Given the description of an element on the screen output the (x, y) to click on. 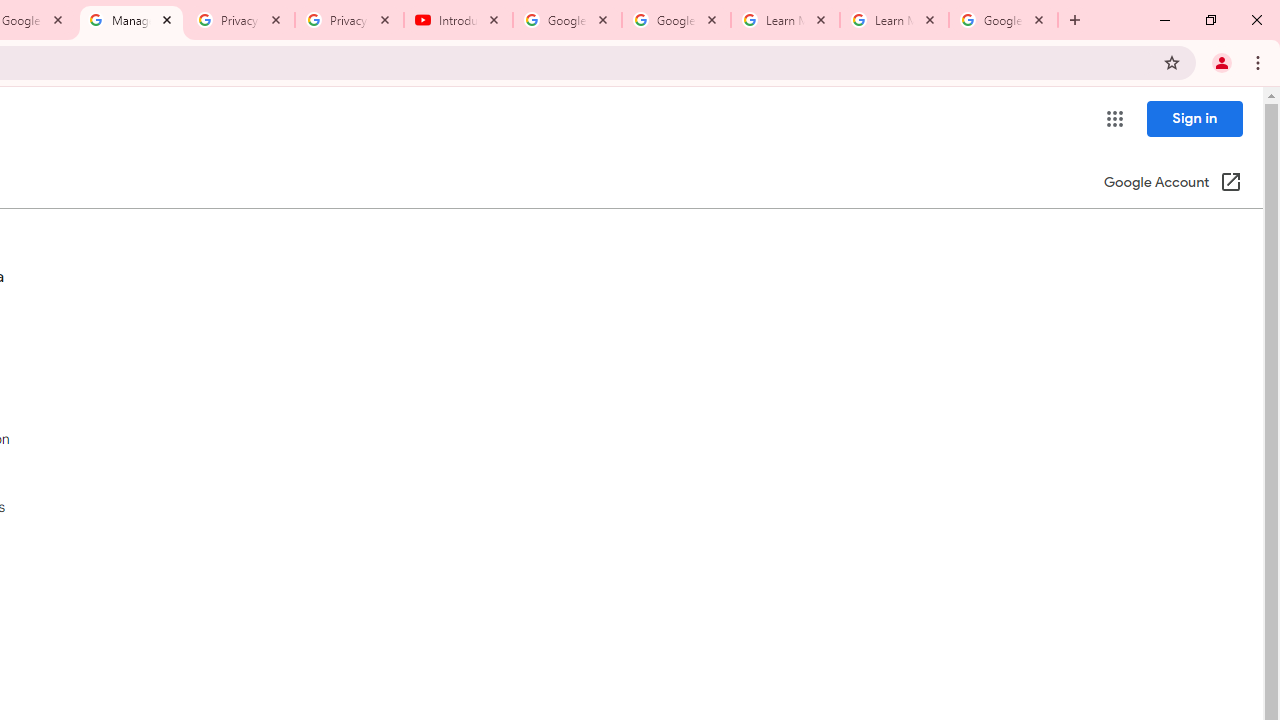
Google Account Help (676, 20)
Introduction | Google Privacy Policy - YouTube (458, 20)
